Given the description of an element on the screen output the (x, y) to click on. 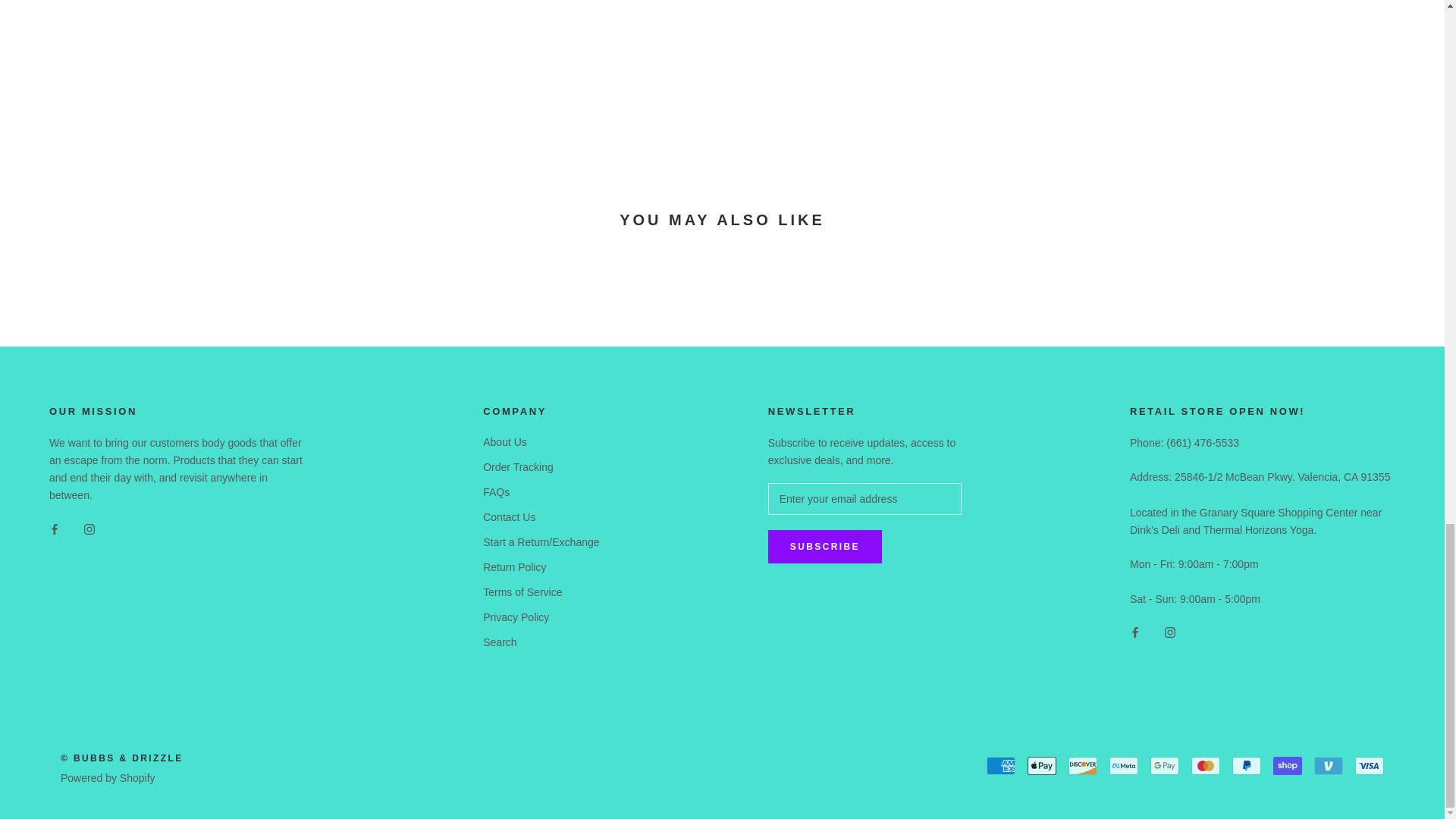
PayPal (1245, 765)
Discover (1082, 765)
Venmo (1328, 765)
Apple Pay (1042, 765)
Google Pay (1164, 765)
Mastercard (1205, 765)
Shop Pay (1286, 765)
Meta Pay (1123, 765)
American Express (1000, 765)
